Given the description of an element on the screen output the (x, y) to click on. 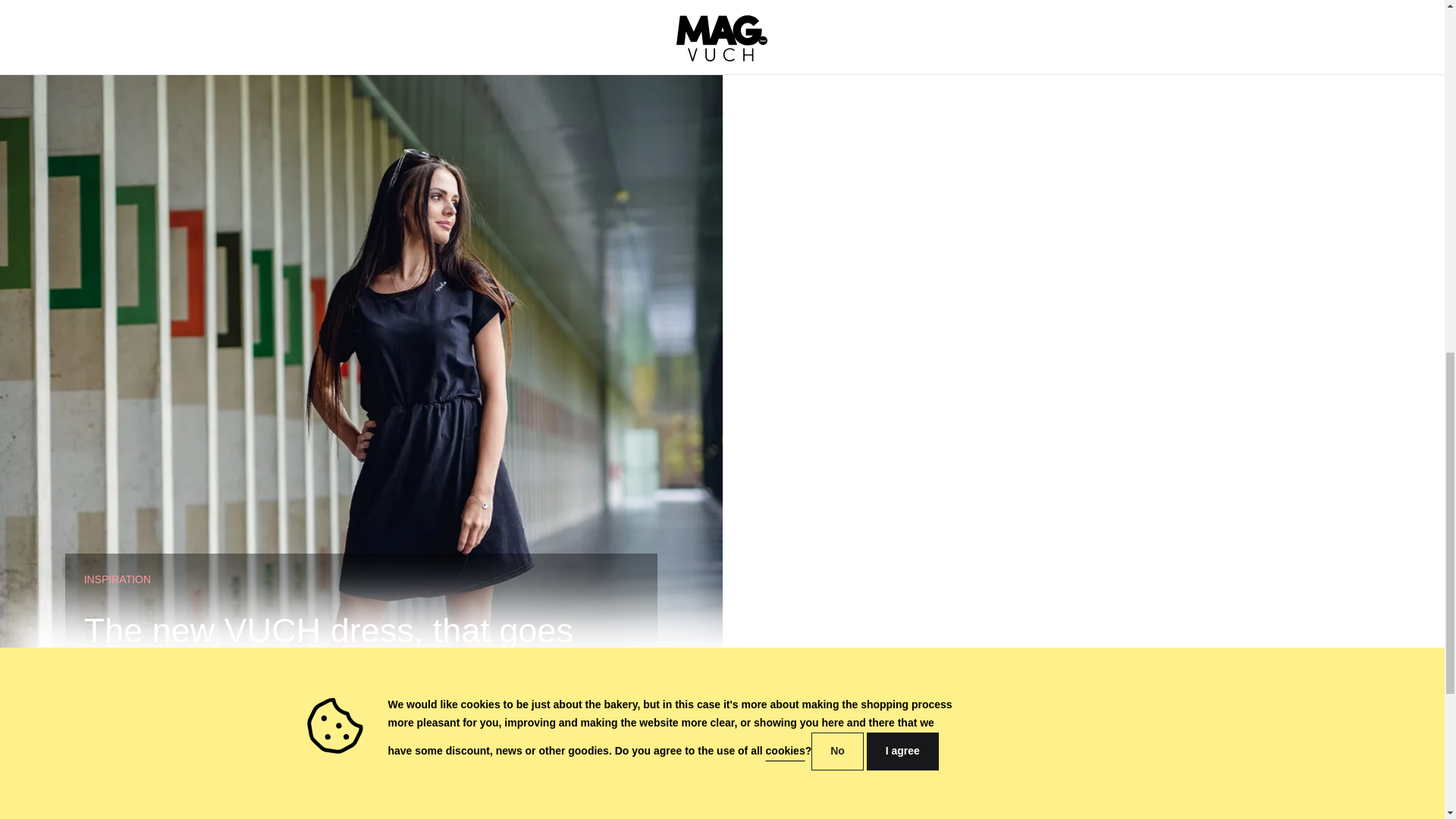
dress (875, 693)
dress (812, 748)
